Given the description of an element on the screen output the (x, y) to click on. 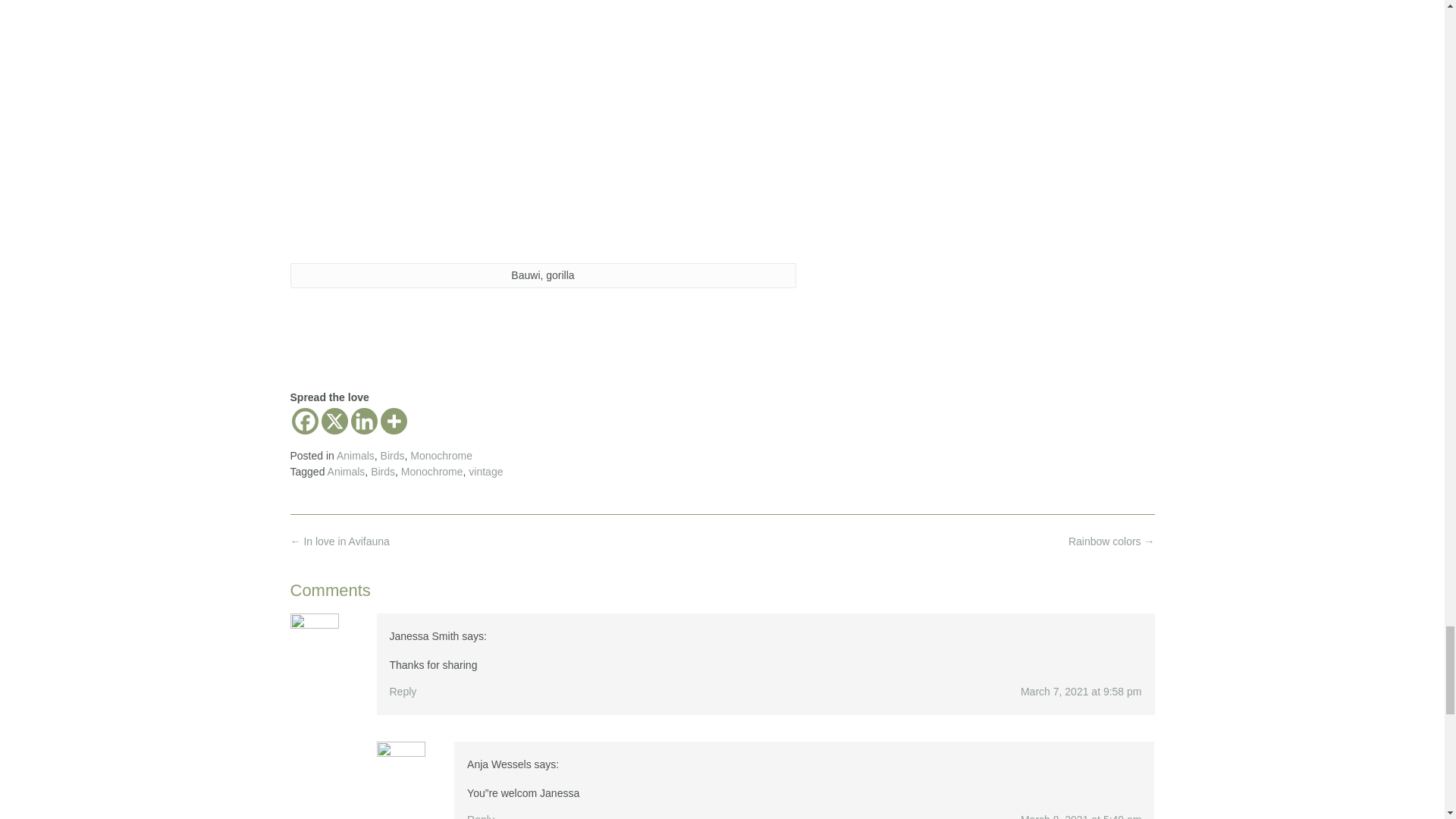
More (393, 420)
March 7, 2021 at 9:58 pm (1080, 691)
vintage (485, 471)
Birds (392, 455)
Reply (403, 691)
Monochrome (432, 471)
Monochrome (440, 455)
Facebook (304, 420)
Animals (346, 471)
Animals (355, 455)
